Given the description of an element on the screen output the (x, y) to click on. 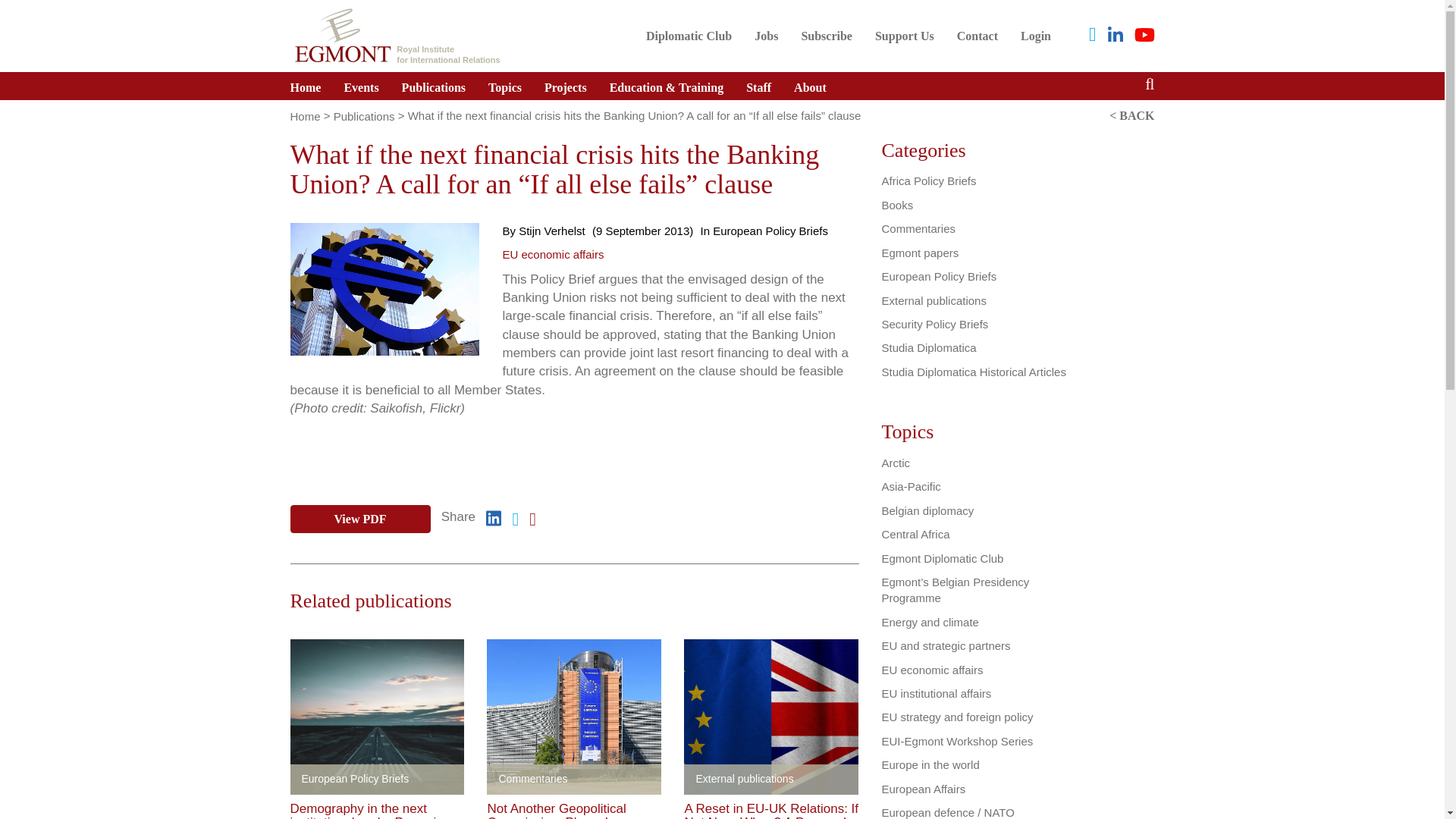
Contact (976, 35)
Publications (433, 85)
Subscribe (826, 35)
Topics (504, 85)
Diplomatic Club (688, 35)
Support Us (903, 35)
Projects (565, 85)
Staff (759, 85)
Events (360, 85)
Support Us (395, 33)
Diplomatic Club (903, 35)
About (688, 35)
Contact (810, 85)
Home (976, 35)
